Given the description of an element on the screen output the (x, y) to click on. 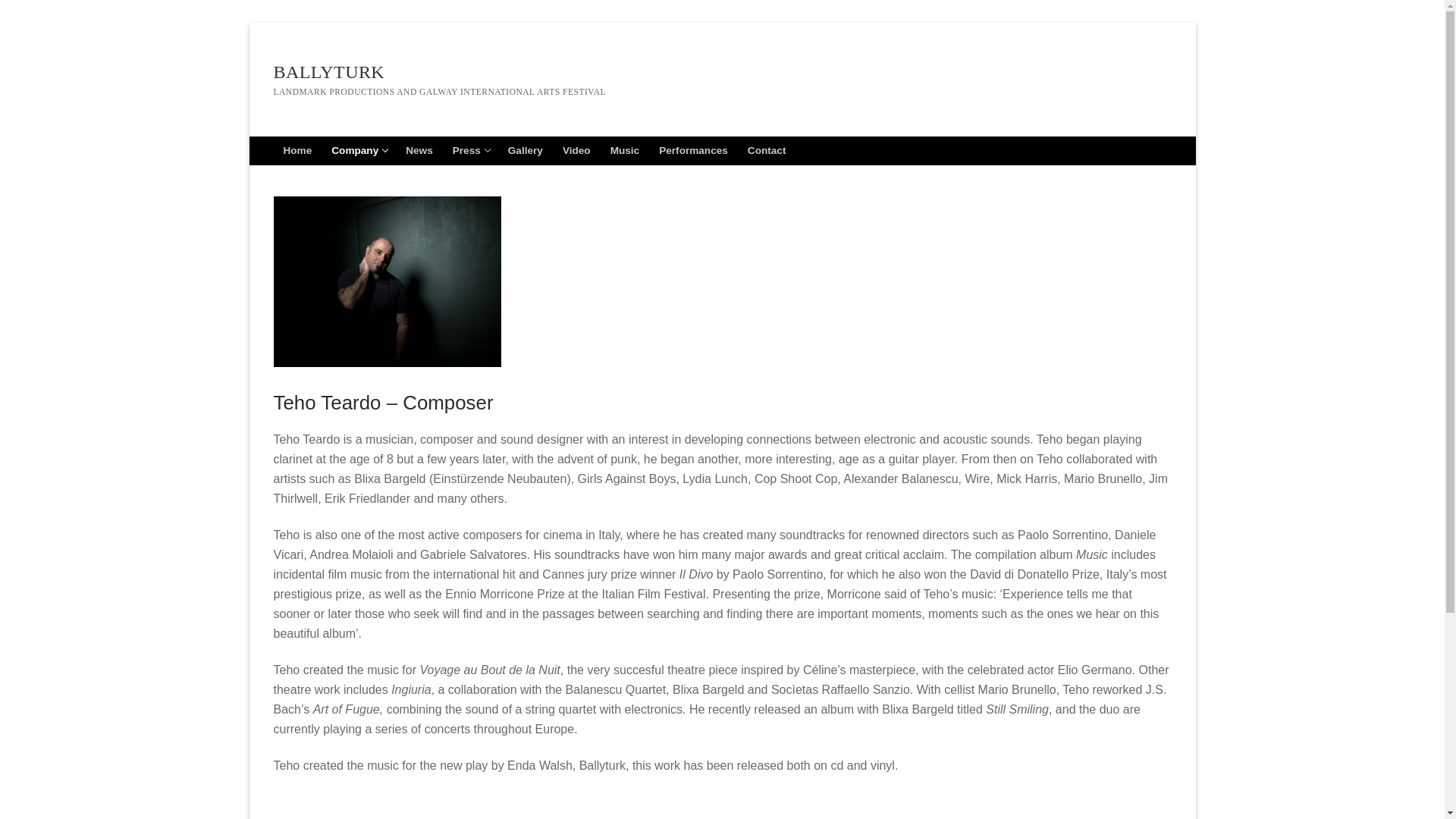
Music (624, 150)
News (419, 150)
BALLYTURK (328, 72)
Home (358, 150)
Skip to content (297, 150)
Performances (469, 150)
Video (525, 150)
